Given the description of an element on the screen output the (x, y) to click on. 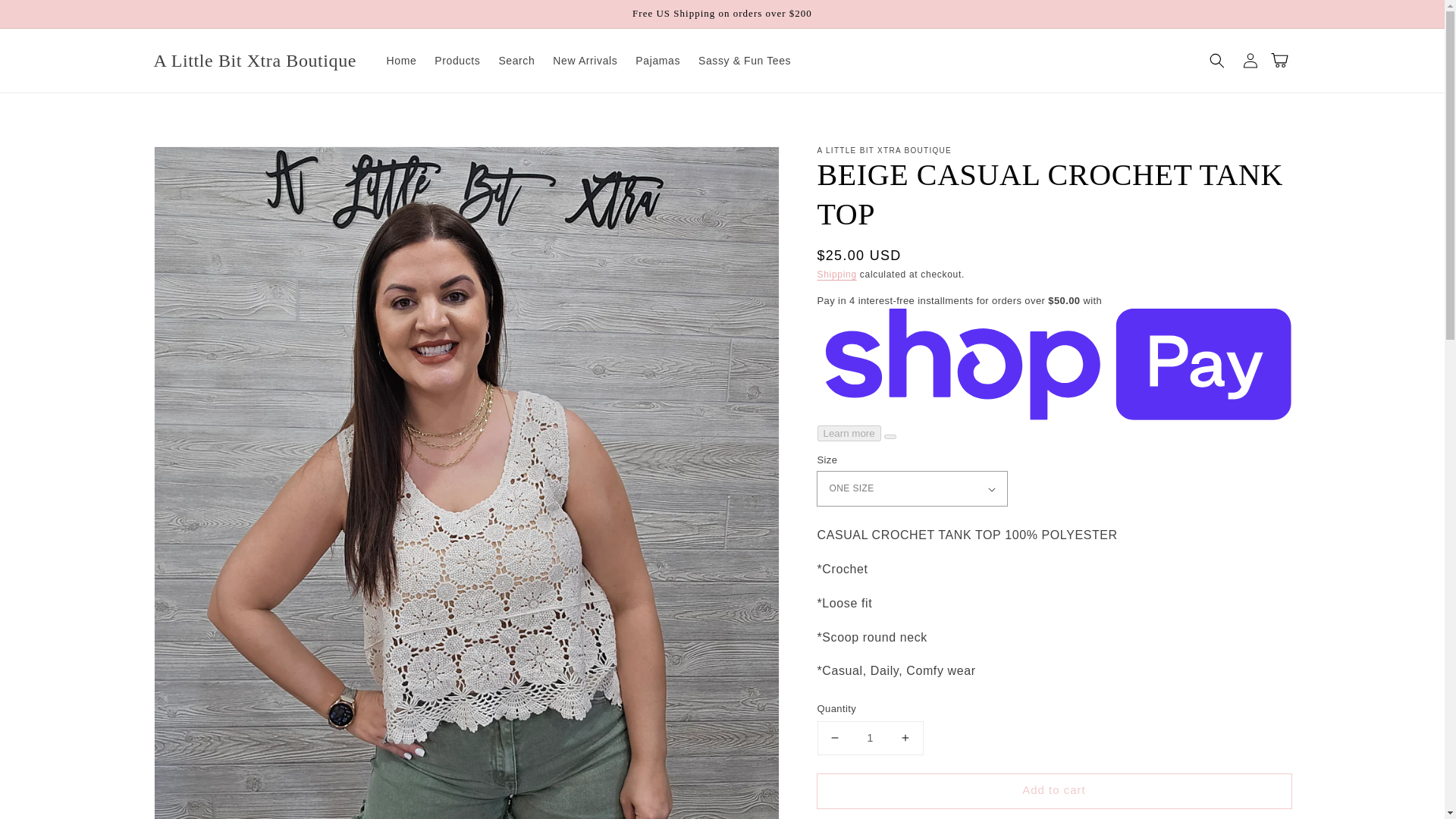
New Arrivals (584, 60)
Cart (1283, 60)
Shipping (836, 274)
Pajamas (657, 60)
Skip to content (45, 16)
Increase quantity for BEIGE CASUAL CROCHET TANK TOP (905, 737)
Add to cart (1053, 790)
A Little Bit Xtra Boutique (255, 60)
Skip to product information (198, 162)
Search (516, 60)
1 (869, 737)
Home (401, 60)
Decrease quantity for BEIGE CASUAL CROCHET TANK TOP (833, 737)
Log in (1249, 60)
Products (457, 60)
